Given the description of an element on the screen output the (x, y) to click on. 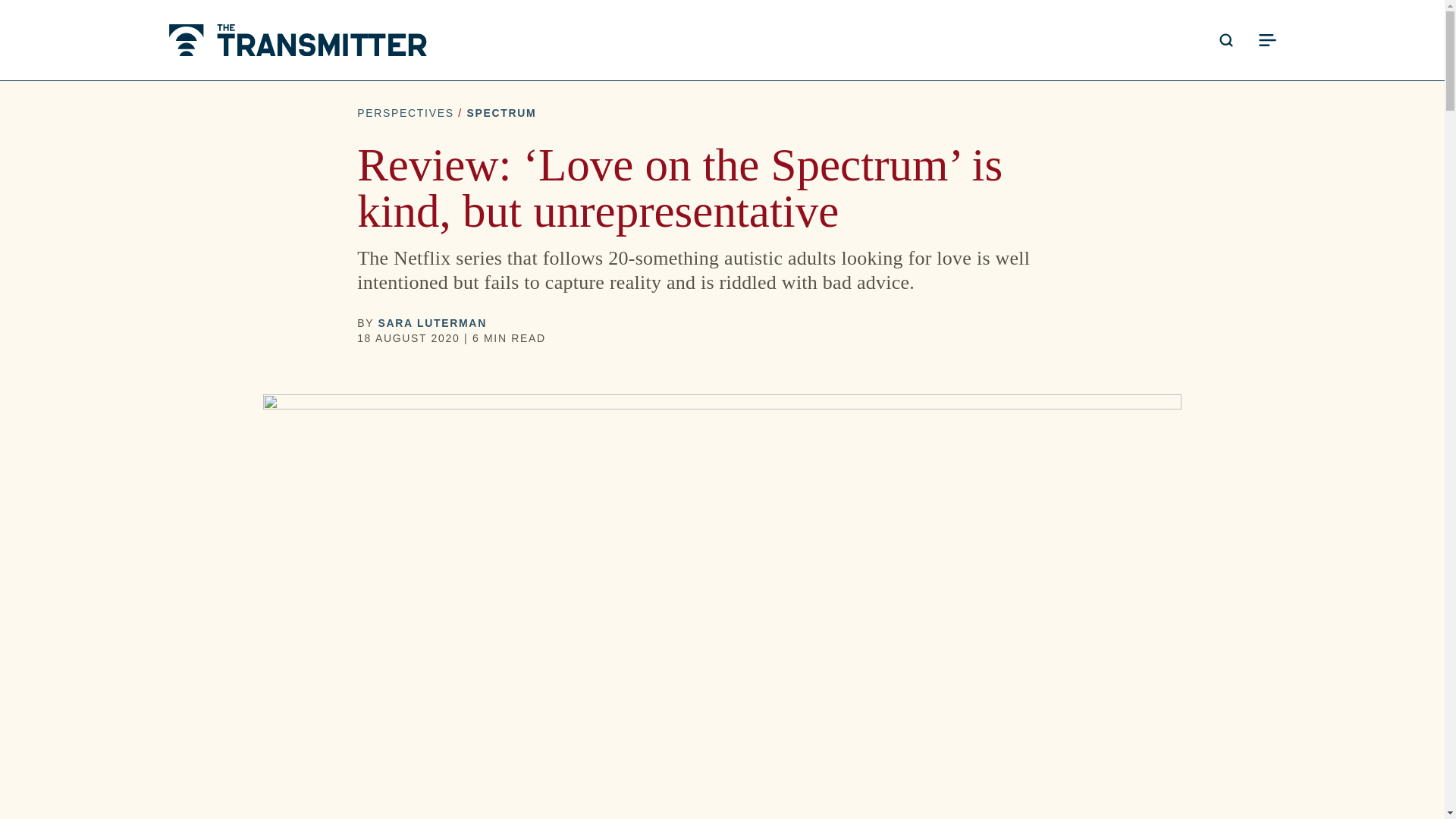
Open menu (1266, 40)
The Transmitter (297, 40)
Open search form (1225, 39)
